Given the description of an element on the screen output the (x, y) to click on. 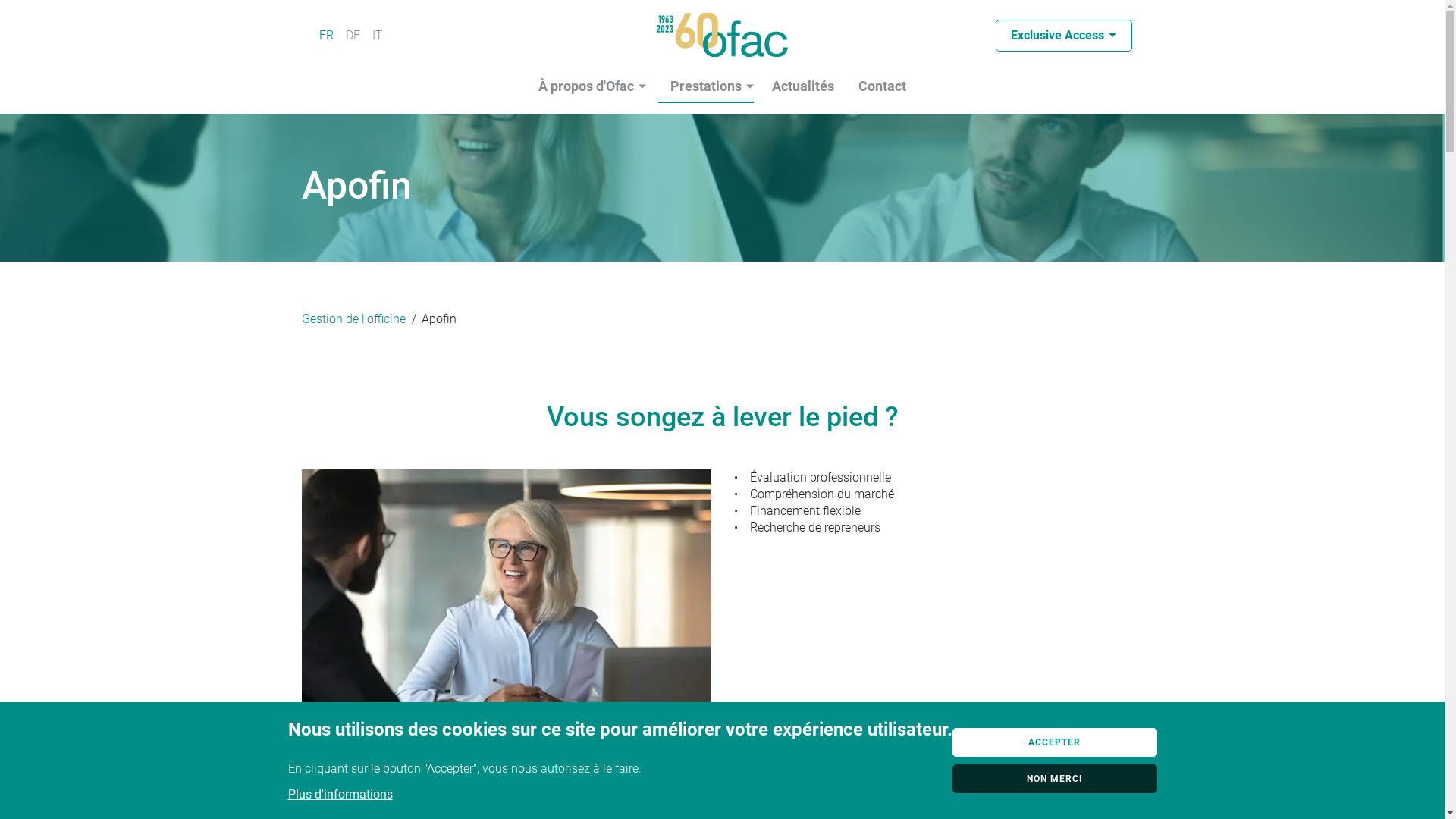
FR Element type: text (325, 35)
Gestion de l'officine Element type: text (353, 318)
IT Element type: text (376, 35)
Plus d'informations Element type: text (340, 794)
Prestations Element type: text (705, 87)
DE Element type: text (352, 35)
Exclusive Access Element type: text (1062, 35)
ACCEPTER Element type: text (1054, 742)
Contact Element type: text (882, 87)
NON MERCI Element type: text (1054, 778)
